Given the description of an element on the screen output the (x, y) to click on. 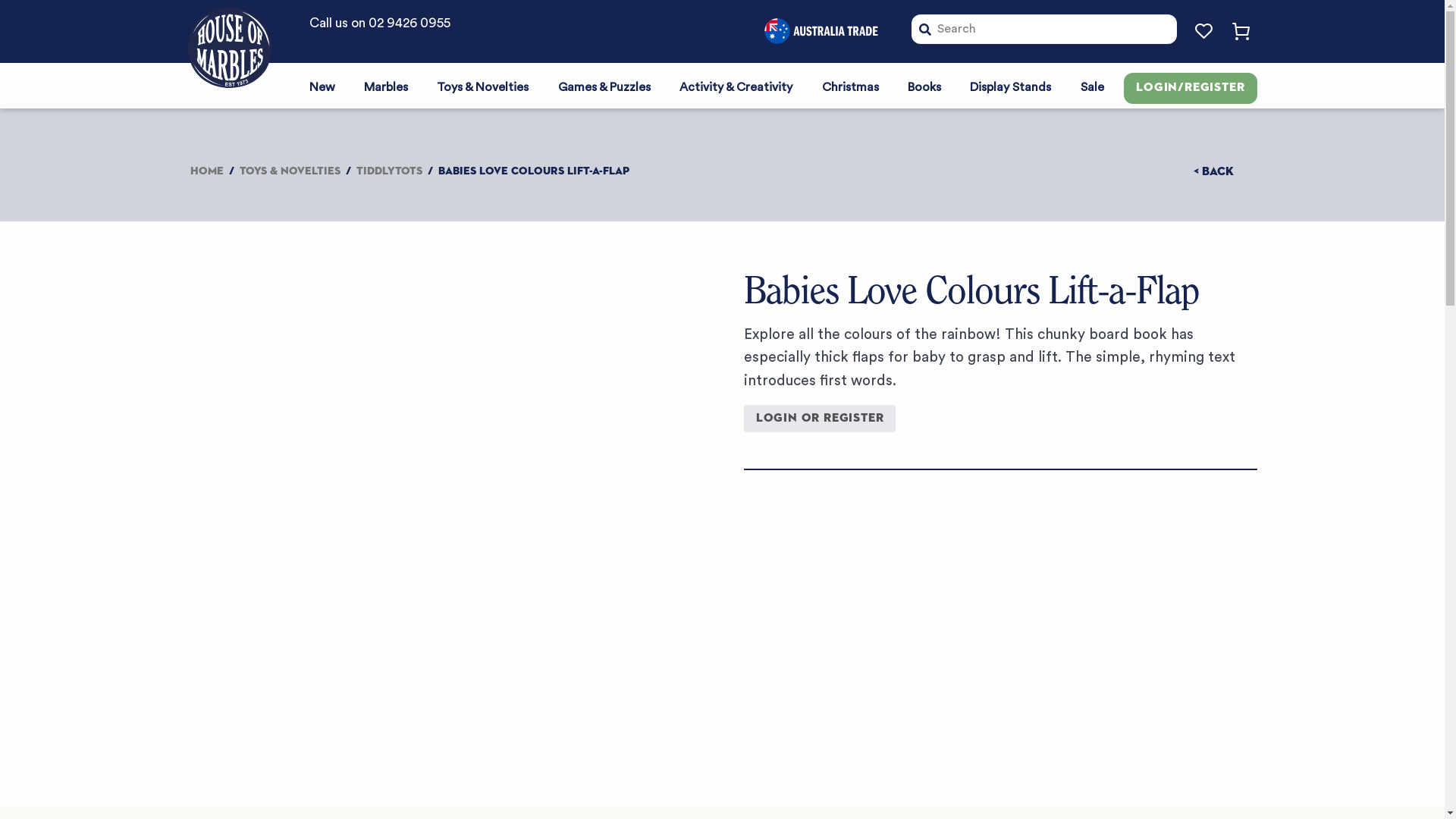
New Element type: text (321, 85)
HOME Element type: text (205, 171)
Display Stands Element type: text (1010, 85)
Activity & Creativity Element type: text (735, 85)
Marbles Element type: text (385, 85)
Call us on 02 9426 0955 Element type: text (379, 23)
< BACK Element type: text (1213, 172)
Books Element type: text (924, 85)
Games & Puzzles Element type: text (604, 85)
Sale Element type: text (1092, 85)
TIDDLYTOTS Element type: text (389, 171)
LOGIN OR REGISTER Element type: text (819, 418)
View your shopping cart Element type: hover (1237, 31)
Christmas Element type: text (849, 85)
TOYS & NOVELTIES Element type: text (289, 171)
Toys & Novelties Element type: text (482, 85)
LOGIN/REGISTER Element type: text (1189, 88)
